Given the description of an element on the screen output the (x, y) to click on. 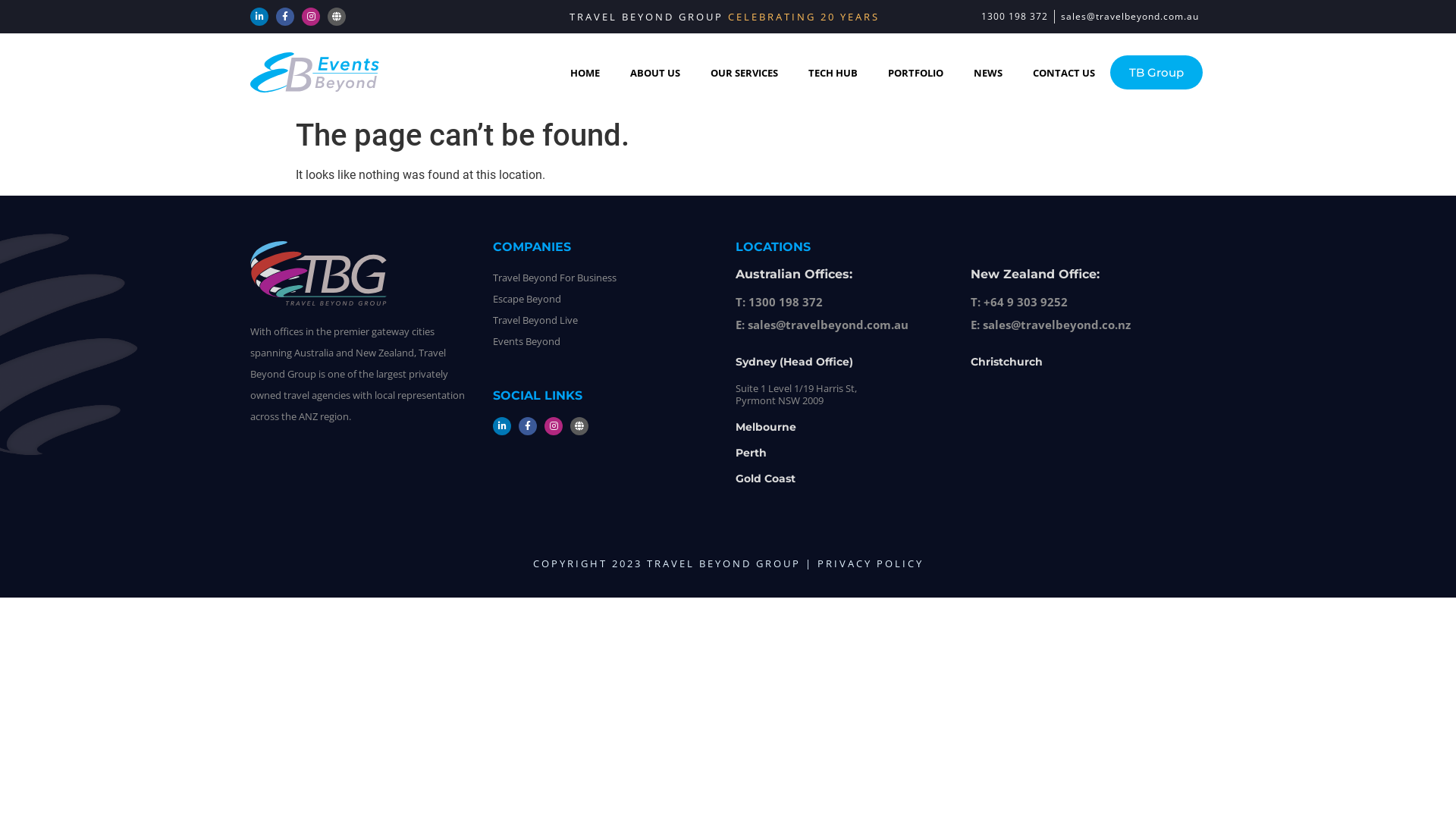
CONTACT US Element type: text (1063, 72)
ABOUT US Element type: text (655, 72)
Events Beyond Element type: text (526, 341)
Travel Beyond Live Element type: text (534, 319)
PORTFOLIO Element type: text (915, 72)
TB Group Element type: text (1156, 72)
Escape Beyond Element type: text (526, 298)
sales@travelbeyond.com.au Element type: text (1129, 16)
TECH HUB Element type: text (832, 72)
HOME Element type: text (585, 72)
NEWS Element type: text (987, 72)
1300 198 372 Element type: text (1014, 16)
Travel Beyond For Business Element type: text (554, 277)
OUR SERVICES Element type: text (744, 72)
